Given the description of an element on the screen output the (x, y) to click on. 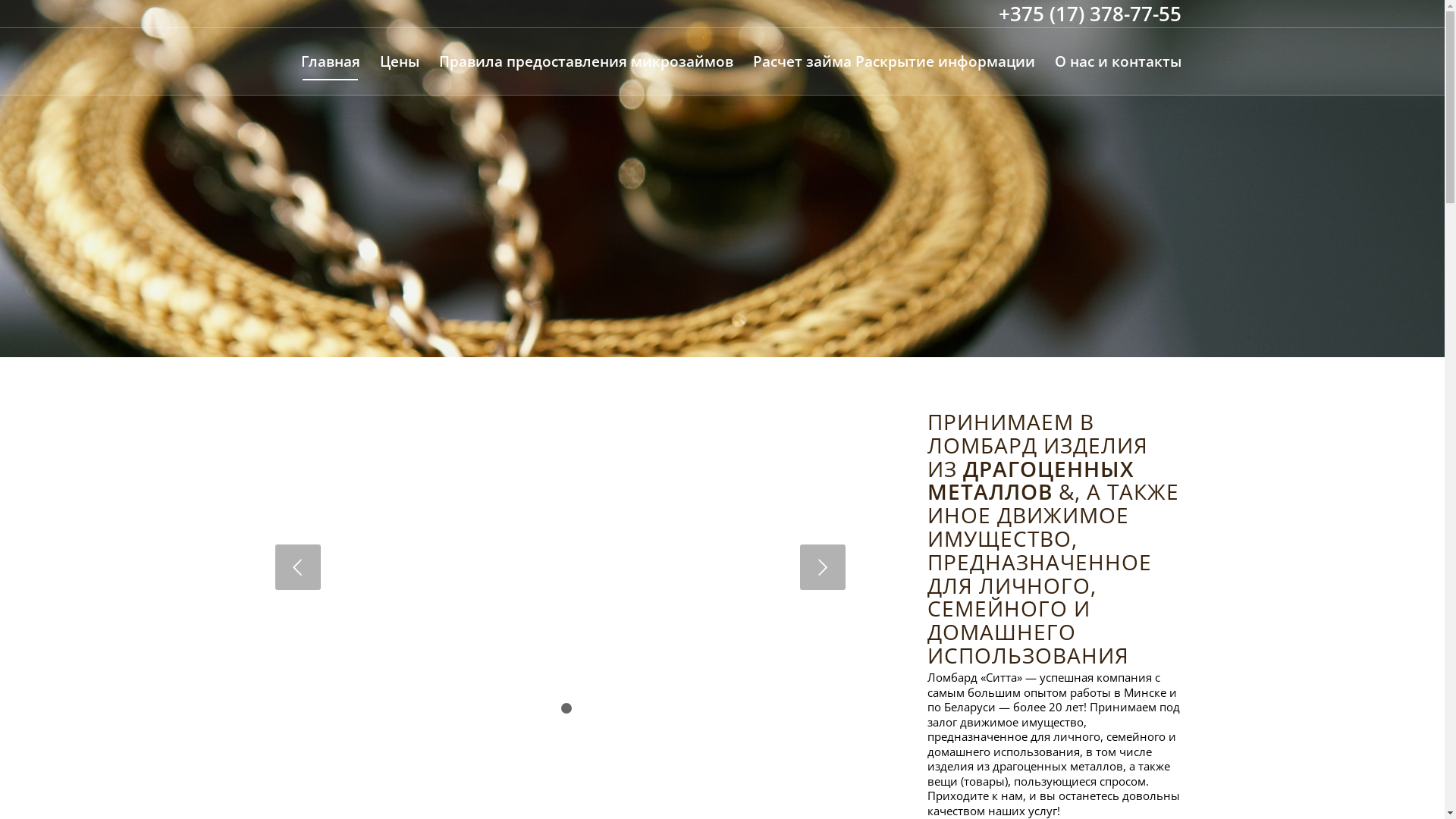
2 Element type: text (566, 707)
1 Element type: text (554, 707)
